Given the description of an element on the screen output the (x, y) to click on. 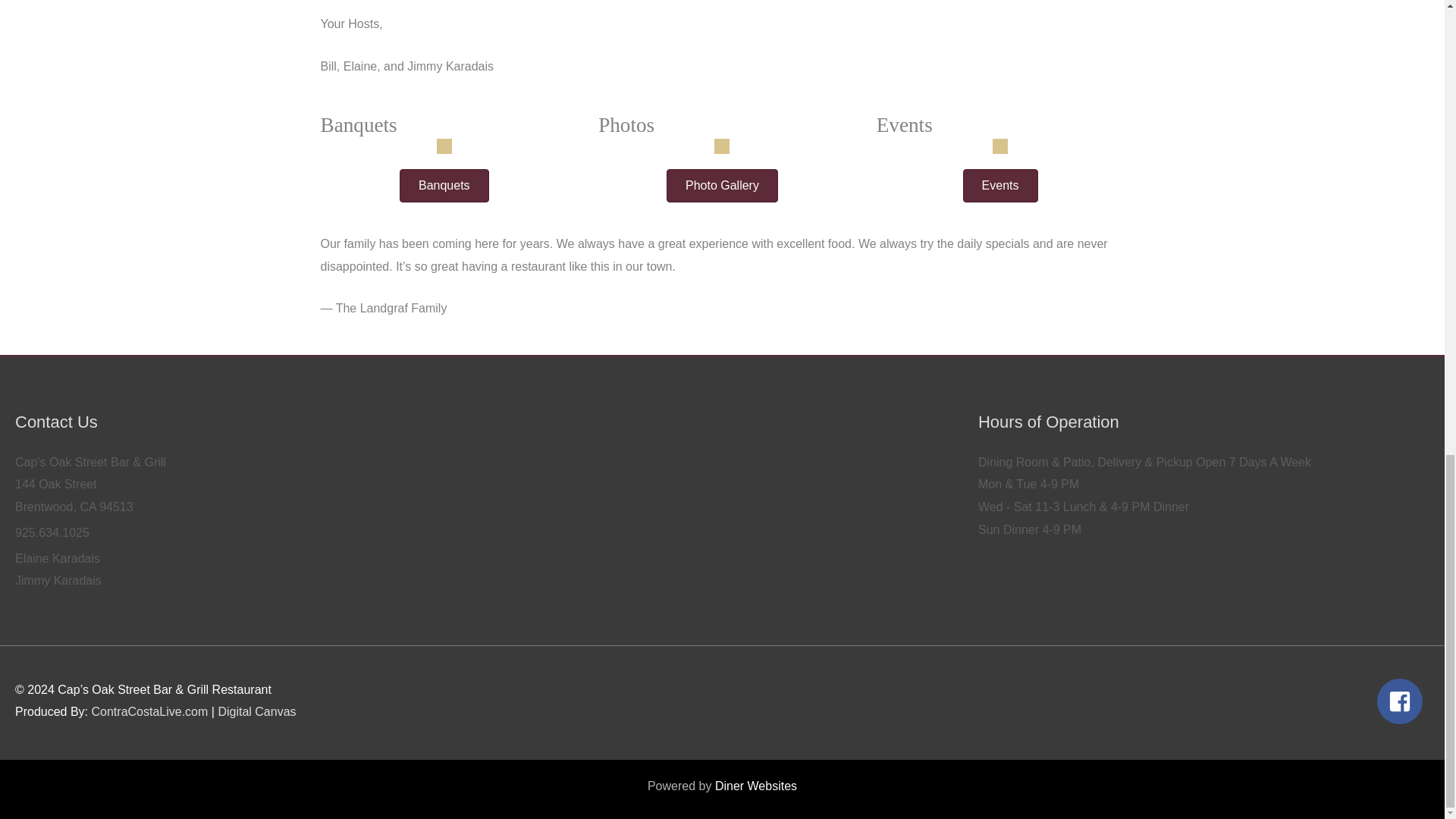
ContraCostaLive.com (149, 711)
Diner Websites (755, 785)
Digital Canvas (255, 711)
Photo Gallery (721, 185)
Banquets (443, 185)
Events (1000, 185)
